Given the description of an element on the screen output the (x, y) to click on. 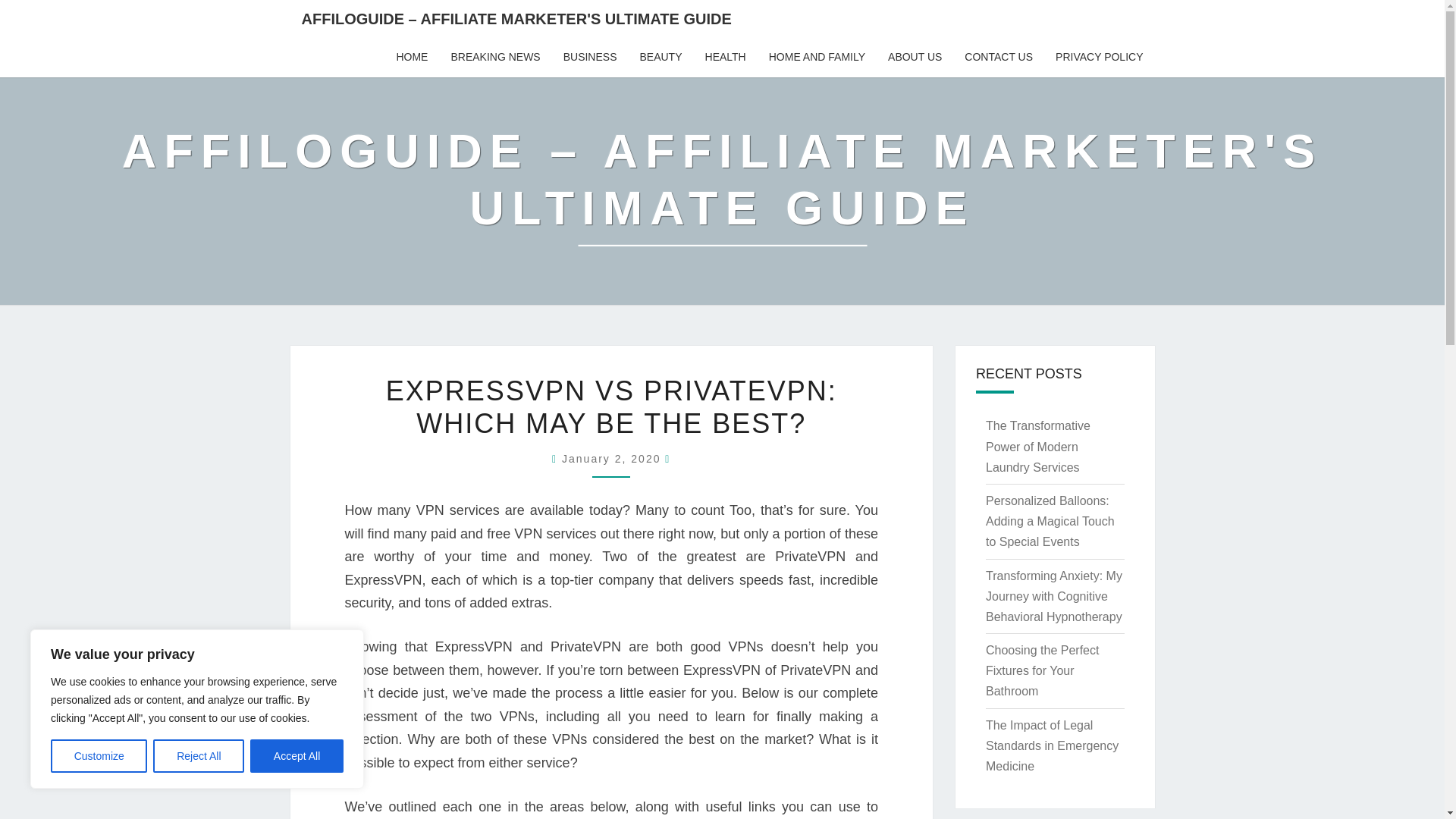
The Transformative Power of Modern Laundry Services (1037, 446)
BREAKING NEWS (495, 56)
BUSINESS (589, 56)
January 2, 2020 (613, 458)
Choosing the Perfect Fixtures for Your Bathroom (1042, 670)
CONTACT US (998, 56)
Accept All (296, 756)
BEAUTY (660, 56)
3:34 pm (613, 458)
